Given the description of an element on the screen output the (x, y) to click on. 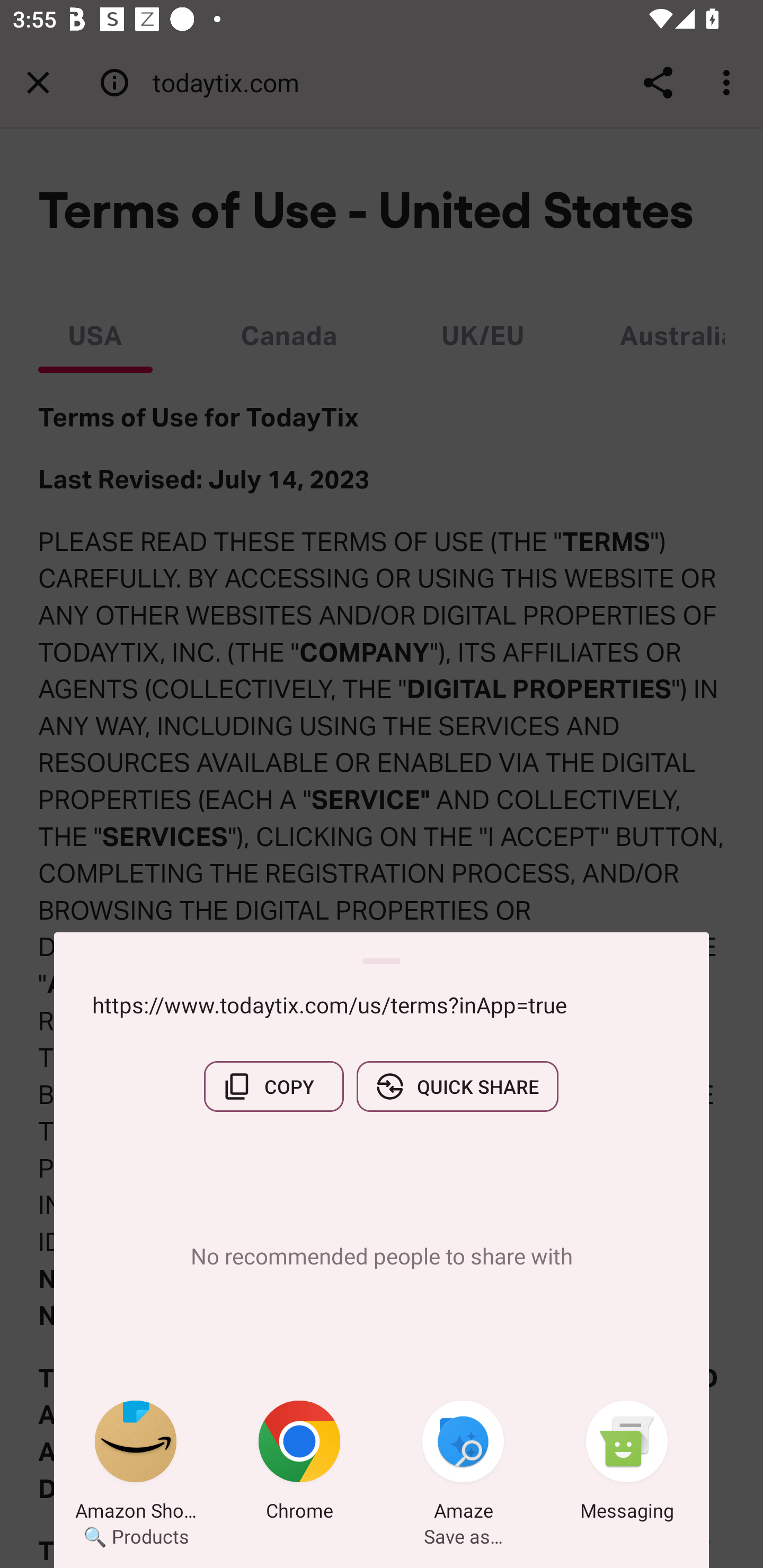
COPY (273, 1086)
QUICK SHARE (457, 1086)
Amazon Shopping 🔍 Products (135, 1463)
Chrome (299, 1463)
Amaze Save as… (463, 1463)
Messaging (626, 1463)
